Given the description of an element on the screen output the (x, y) to click on. 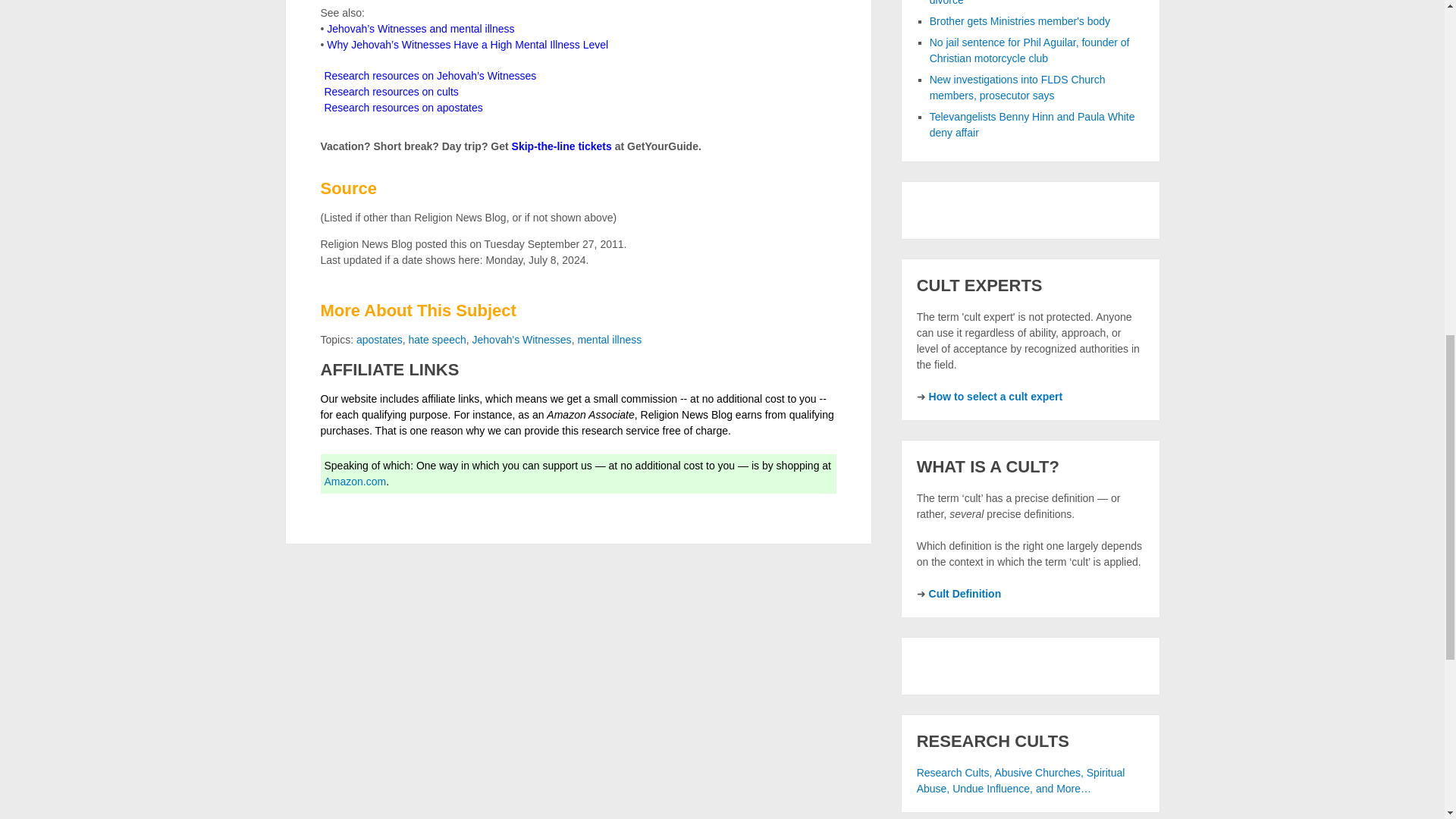
Amazon.com (355, 481)
apostates (402, 107)
cults (390, 91)
Skip-the-line tickets (561, 146)
New investigations into FLDS Church members, prosecutor says (1017, 87)
Research resources on cults (390, 91)
apostates (379, 339)
hate speech (436, 339)
mental illness (609, 339)
Wife of televangelist Benny Hinn files for divorce (1024, 2)
Televangelists Benny Hinn and Paula White deny affair (1032, 124)
Jehovah's Witnesses (521, 339)
Jehovah's Witnesses (429, 75)
Research resources on apostates (402, 107)
Brother gets Ministries member's body (1019, 21)
